Given the description of an element on the screen output the (x, y) to click on. 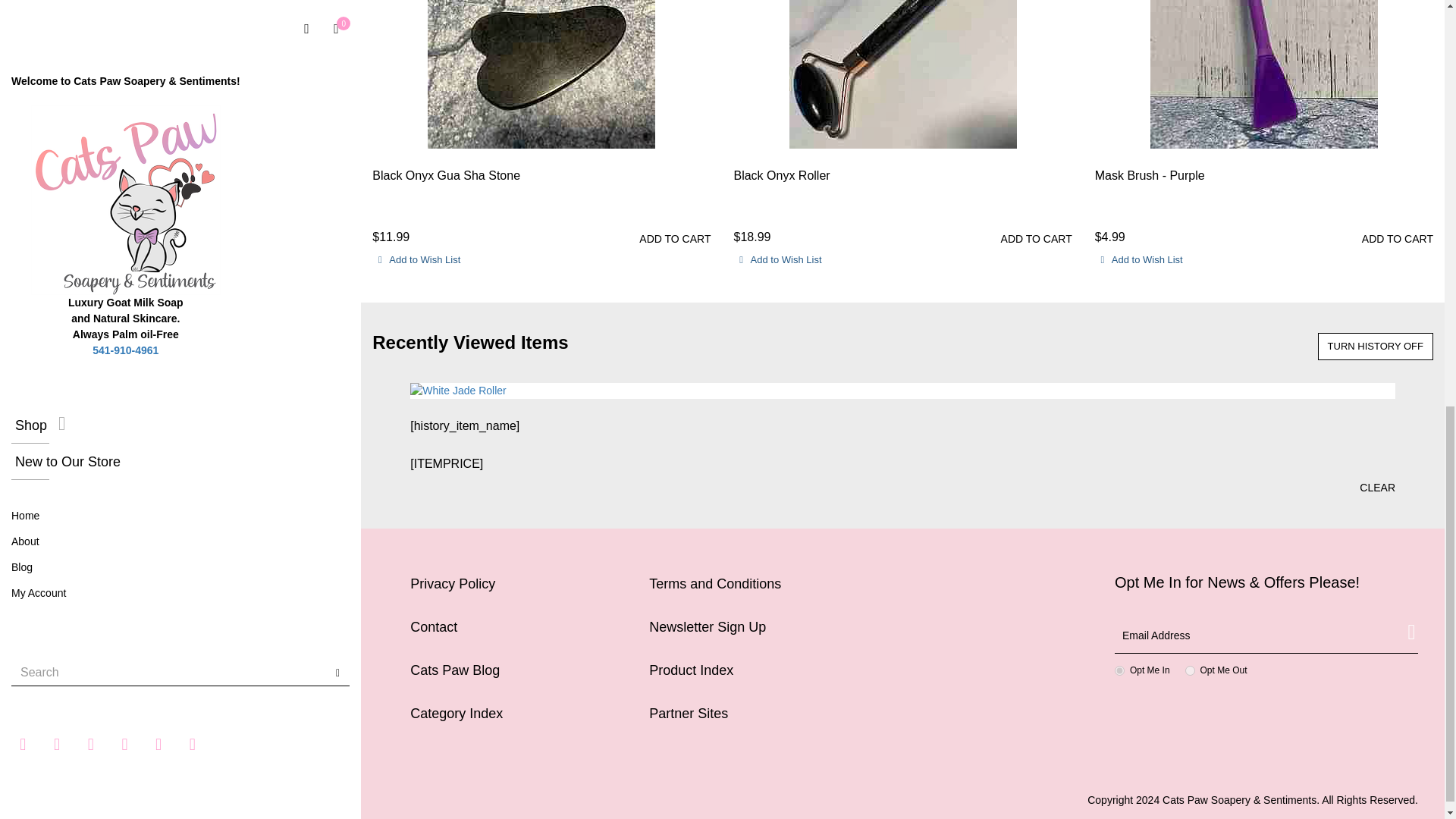
1 (1119, 670)
0 (1190, 670)
